Given the description of an element on the screen output the (x, y) to click on. 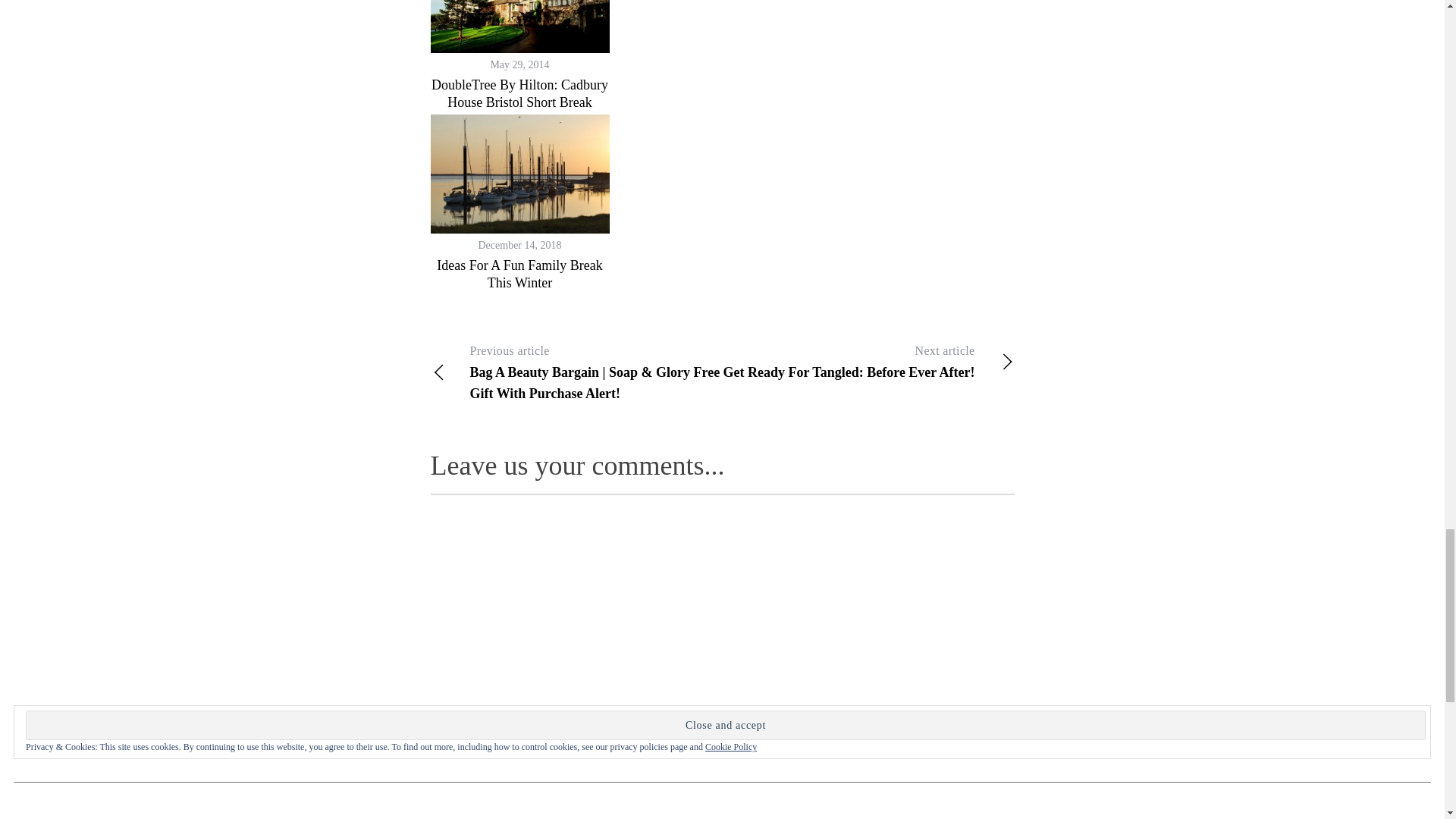
DoubleTree By Hilton: Cadbury House Bristol Short Break (519, 92)
